Given the description of an element on the screen output the (x, y) to click on. 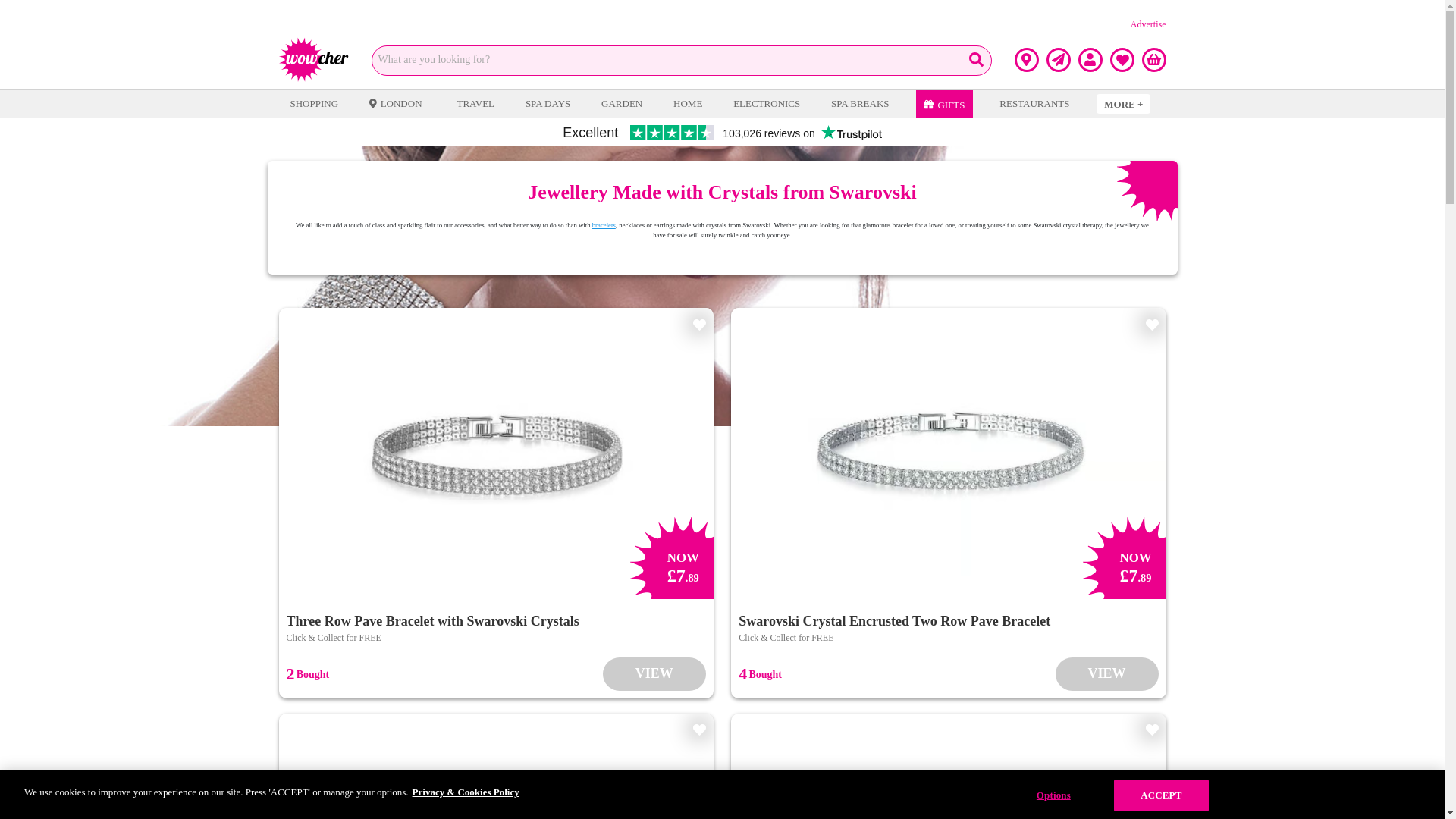
LONDON (397, 103)
GIFTS (943, 103)
Advertise (1148, 23)
SHOPPING (314, 103)
SPA DAYS (547, 103)
GARDEN (621, 103)
HOME (687, 103)
TRAVEL (474, 103)
Login (1090, 59)
SPA BREAKS (859, 103)
Change location (1026, 59)
Basket (1153, 59)
Subscribe to our Newsletter (1058, 59)
Wishlist (1121, 59)
RESTAURANTS (1034, 103)
